Given the description of an element on the screen output the (x, y) to click on. 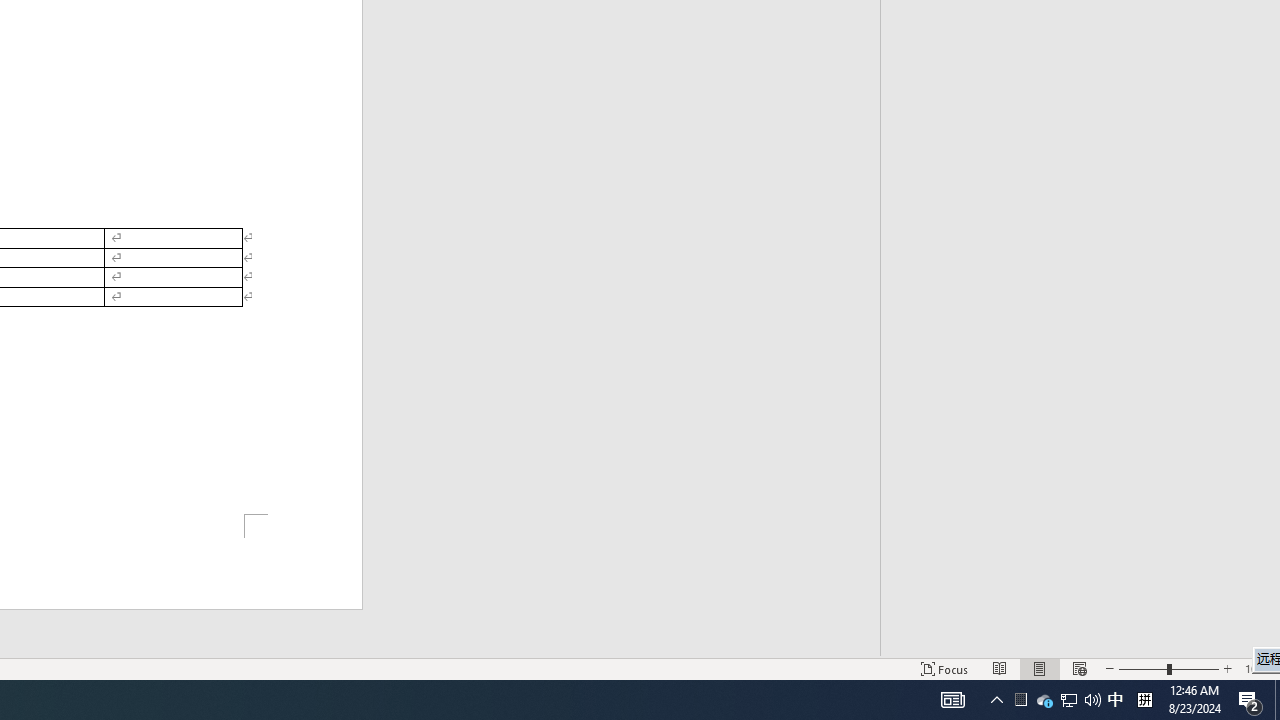
Q2790: 100% (1092, 699)
Notification Chevron (996, 699)
System Promoted Notification Area (1069, 699)
Tray Input Indicator - Chinese (Simplified, China) (1020, 699)
Show desktop (1144, 699)
User Promoted Notification Area (1020, 699)
